Given the description of an element on the screen output the (x, y) to click on. 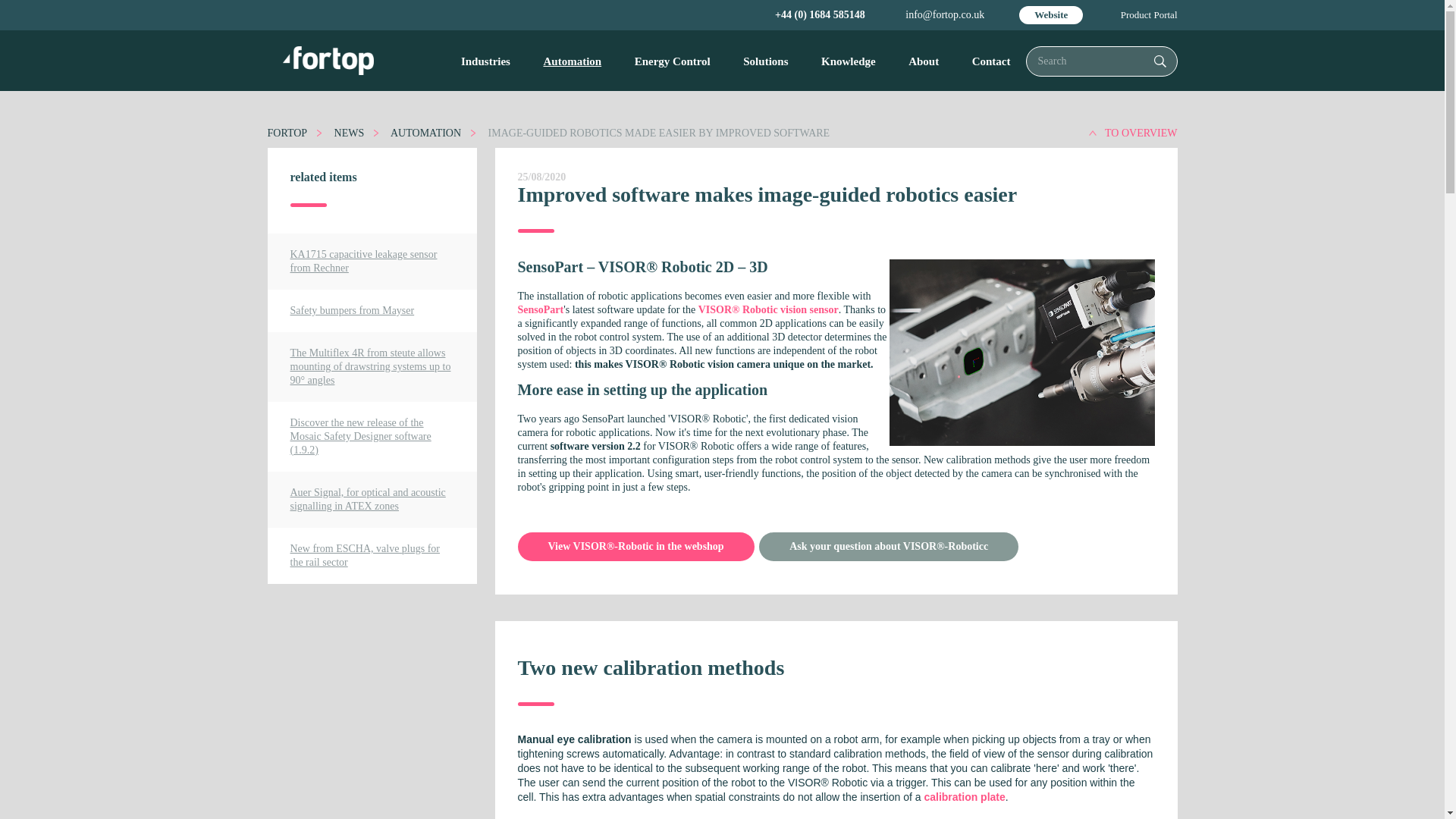
Energy Control (672, 60)
About (923, 60)
Knowledge (848, 60)
SensoPart - Pages de Marque (539, 309)
Industries (485, 60)
Product Portal (1149, 15)
Solutions (765, 60)
Automation (571, 60)
